Given the description of an element on the screen output the (x, y) to click on. 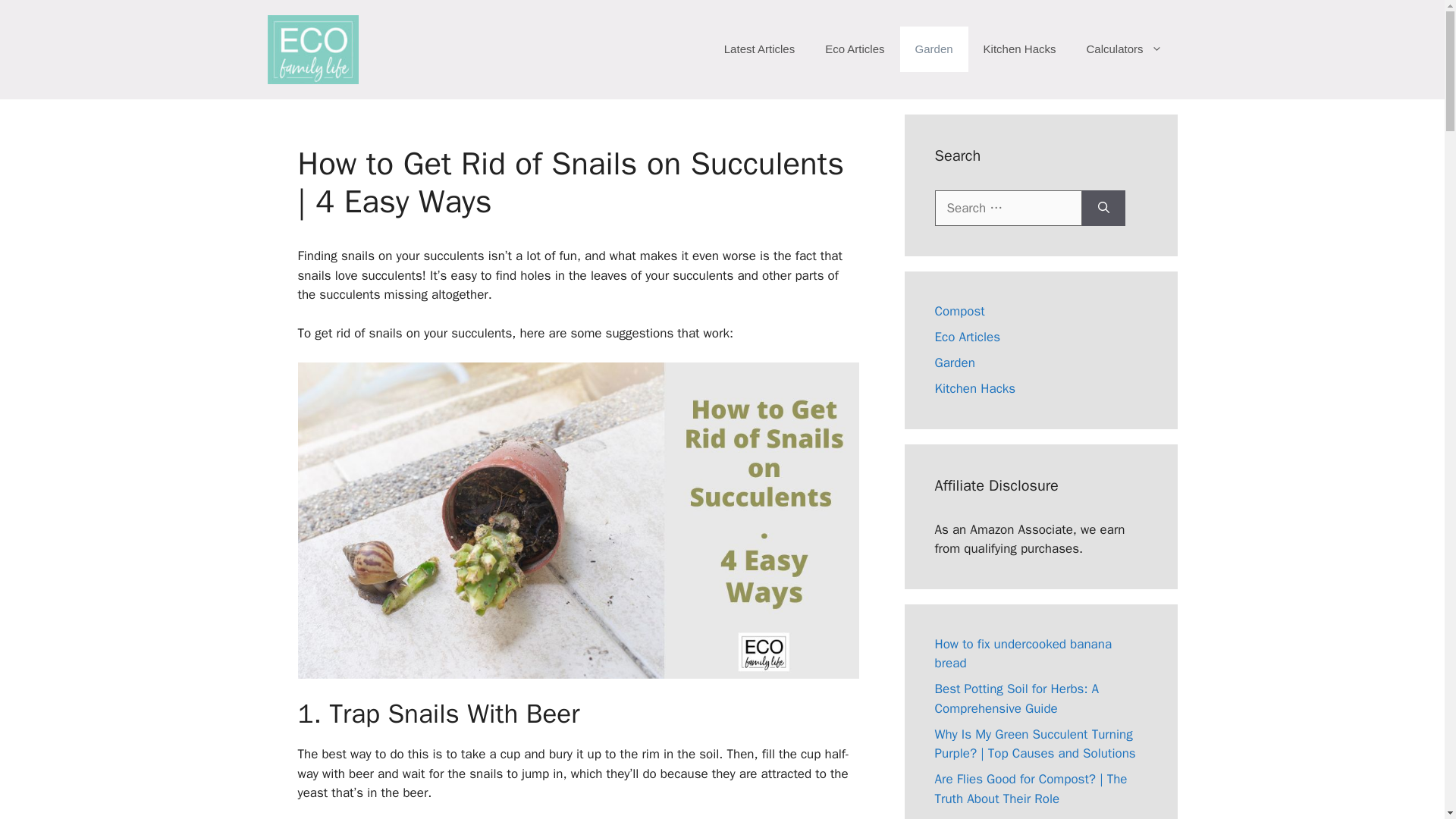
Garden (954, 362)
Latest Articles (759, 49)
Garden (933, 49)
Calculators (1123, 49)
Search for: (1007, 208)
Kitchen Hacks (1019, 49)
Eco Articles (967, 336)
How to fix undercooked banana bread (1023, 653)
Compost (959, 311)
Kitchen Hacks (974, 388)
Best Potting Soil for Herbs: A Comprehensive Guide (1016, 698)
Eco Articles (854, 49)
